Given the description of an element on the screen output the (x, y) to click on. 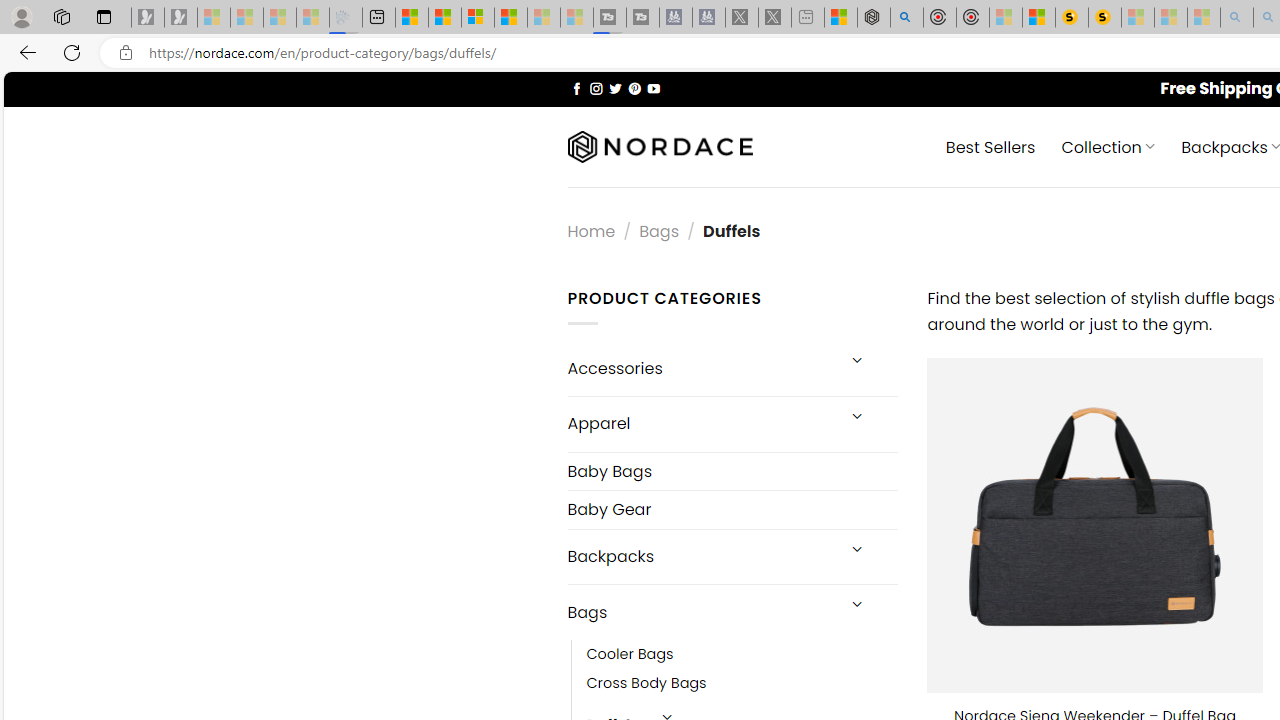
Accessories (700, 368)
Apparel (700, 423)
Baby Bags (732, 470)
Follow on Pinterest (634, 88)
Bags (700, 613)
